Given the description of an element on the screen output the (x, y) to click on. 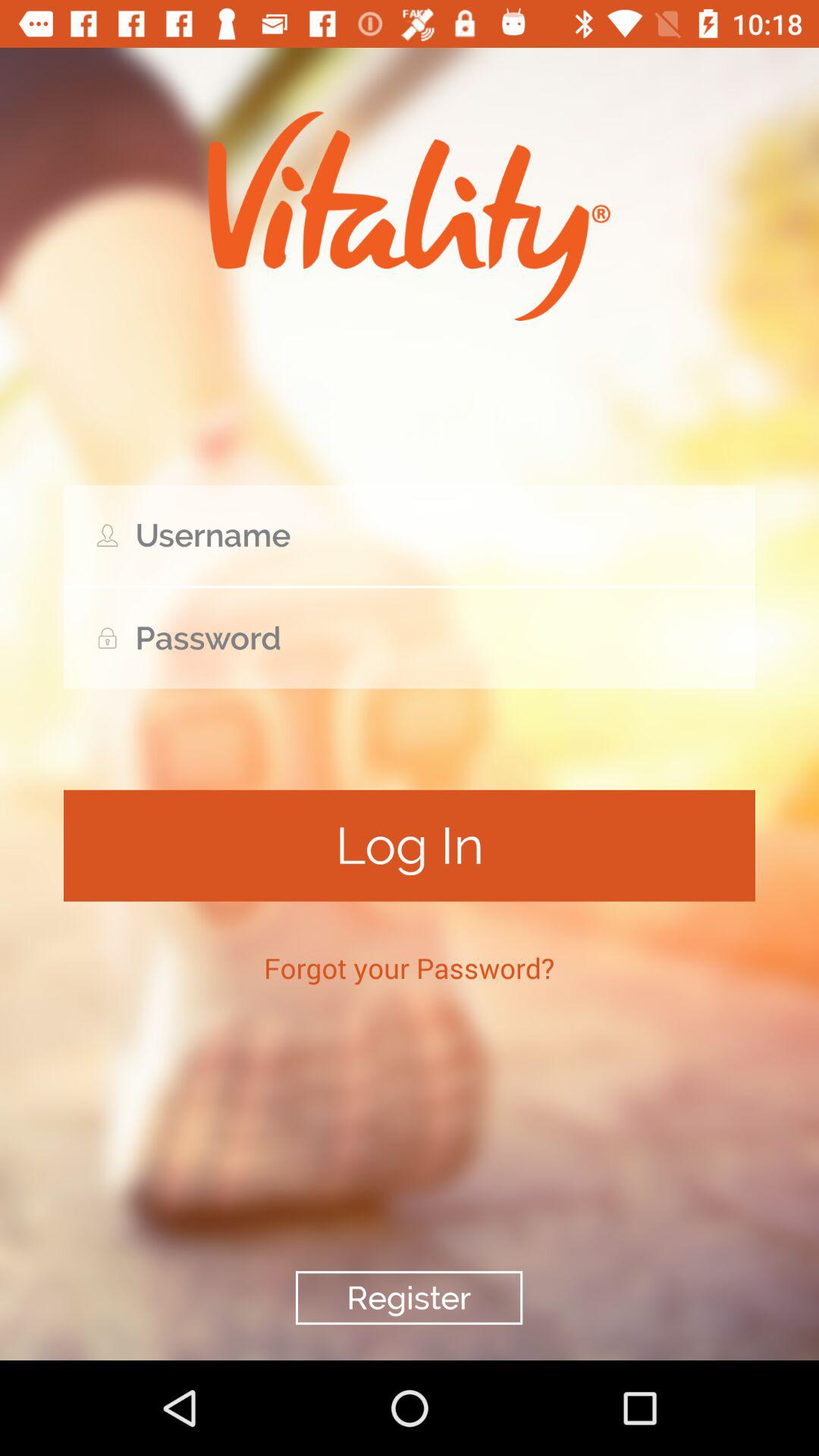
enter password (409, 638)
